Given the description of an element on the screen output the (x, y) to click on. 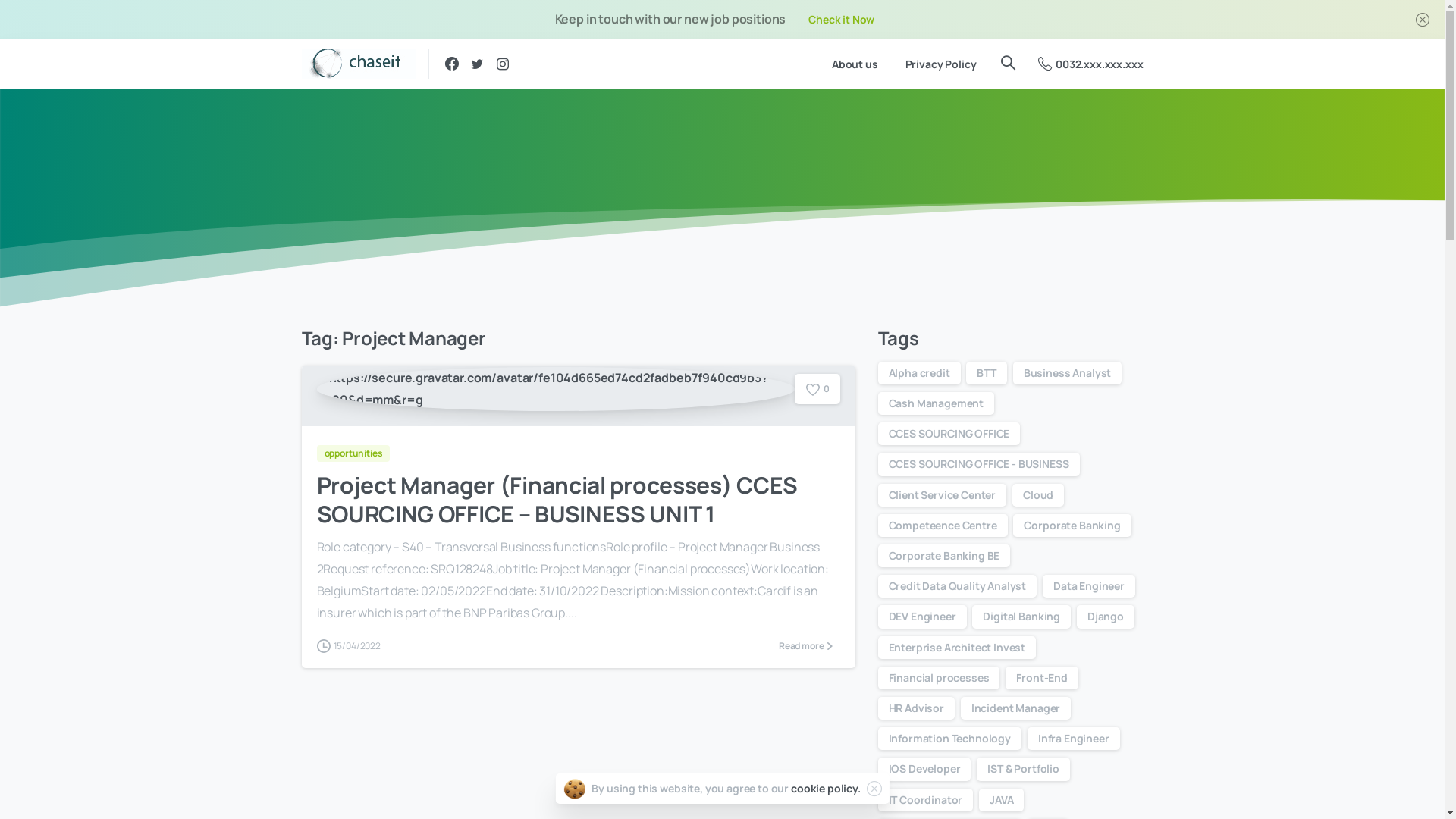
0 Element type: text (817, 388)
Infra Engineer Element type: text (1073, 738)
About us Element type: text (854, 64)
Alpha credit Element type: text (919, 372)
Front-End Element type: text (1041, 677)
HR Advisor Element type: text (916, 707)
Check it Now Element type: text (840, 19)
instagram Element type: hover (502, 63)
Credit Data Quality Analyst Element type: text (957, 585)
Corporate Banking BE Element type: text (944, 555)
CCES SOURCING OFFICE - BUSINESS Element type: text (978, 463)
twitter Element type: hover (476, 63)
opportunities Element type: text (355, 451)
JAVA Element type: text (1001, 799)
Client Service Center Element type: text (942, 494)
Financial processes Element type: text (939, 677)
Cash Management Element type: text (936, 403)
Enterprise Architect Invest Element type: text (957, 647)
DEV Engineer Element type: text (922, 616)
IT Coordinator Element type: text (925, 799)
Incident Manager Element type: text (1015, 707)
Business Analyst Element type: text (1067, 372)
Read more Element type: text (805, 645)
Facebook Element type: hover (451, 63)
CCES SOURCING OFFICE Element type: text (949, 433)
Competeence Centre Element type: text (942, 525)
BTT Element type: text (986, 372)
15/04/2022 Element type: text (348, 645)
Cloud Element type: text (1037, 494)
Corporate Banking Element type: text (1071, 525)
Information Technology Element type: text (949, 738)
Django Element type: text (1105, 616)
Data Engineer Element type: text (1088, 585)
0032.xxx.xxx.xxx Element type: text (1090, 63)
IST & Portfolio Element type: text (1023, 768)
IOS Developer Element type: text (924, 768)
cookie policy. Element type: text (825, 788)
Digital Banking Element type: text (1021, 616)
Privacy Policy Element type: text (940, 64)
